Given the description of an element on the screen output the (x, y) to click on. 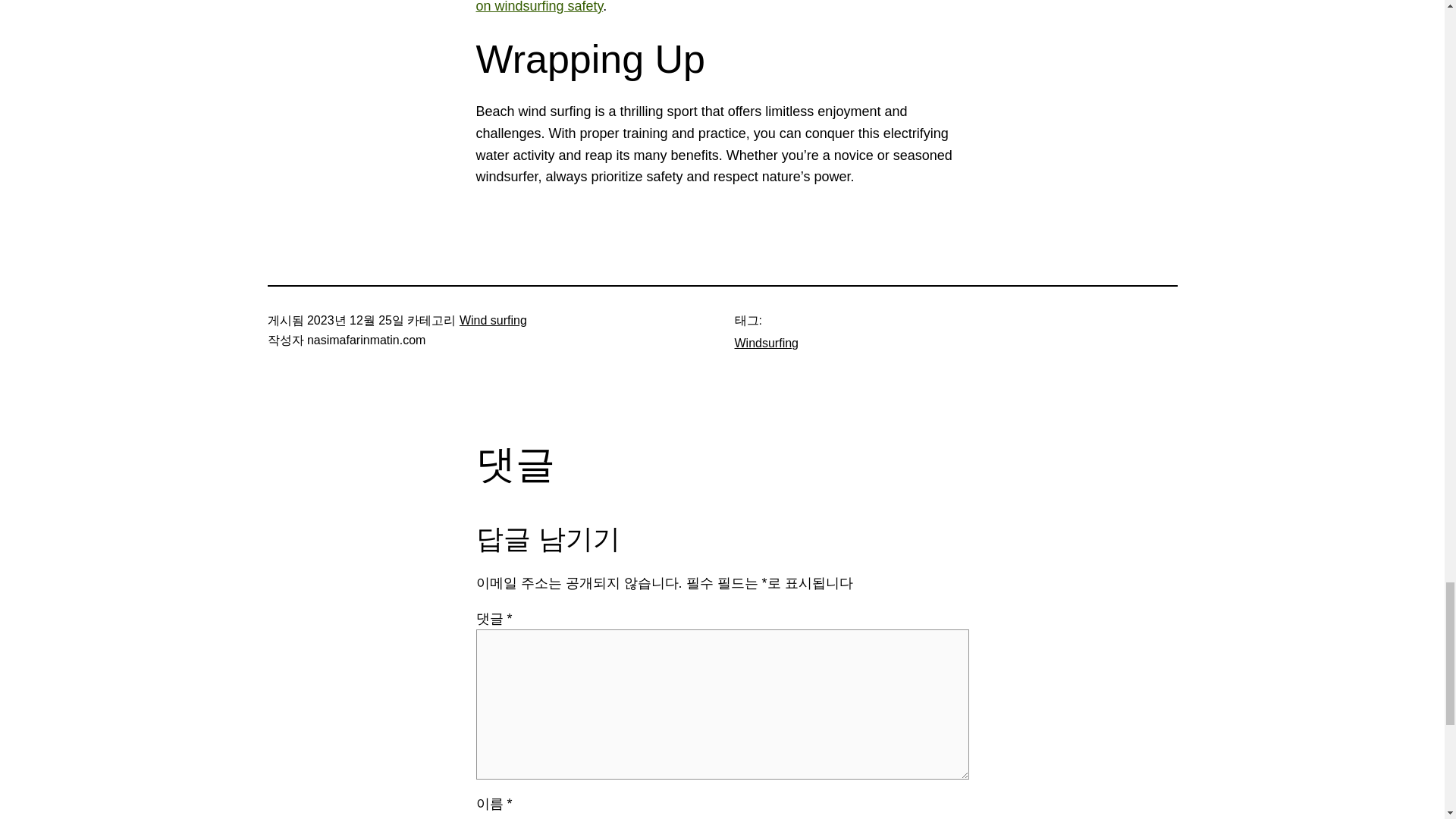
Windsurfing (765, 342)
Wind surfing (493, 319)
Wikipedia page on windsurfing safety (718, 6)
